Given the description of an element on the screen output the (x, y) to click on. 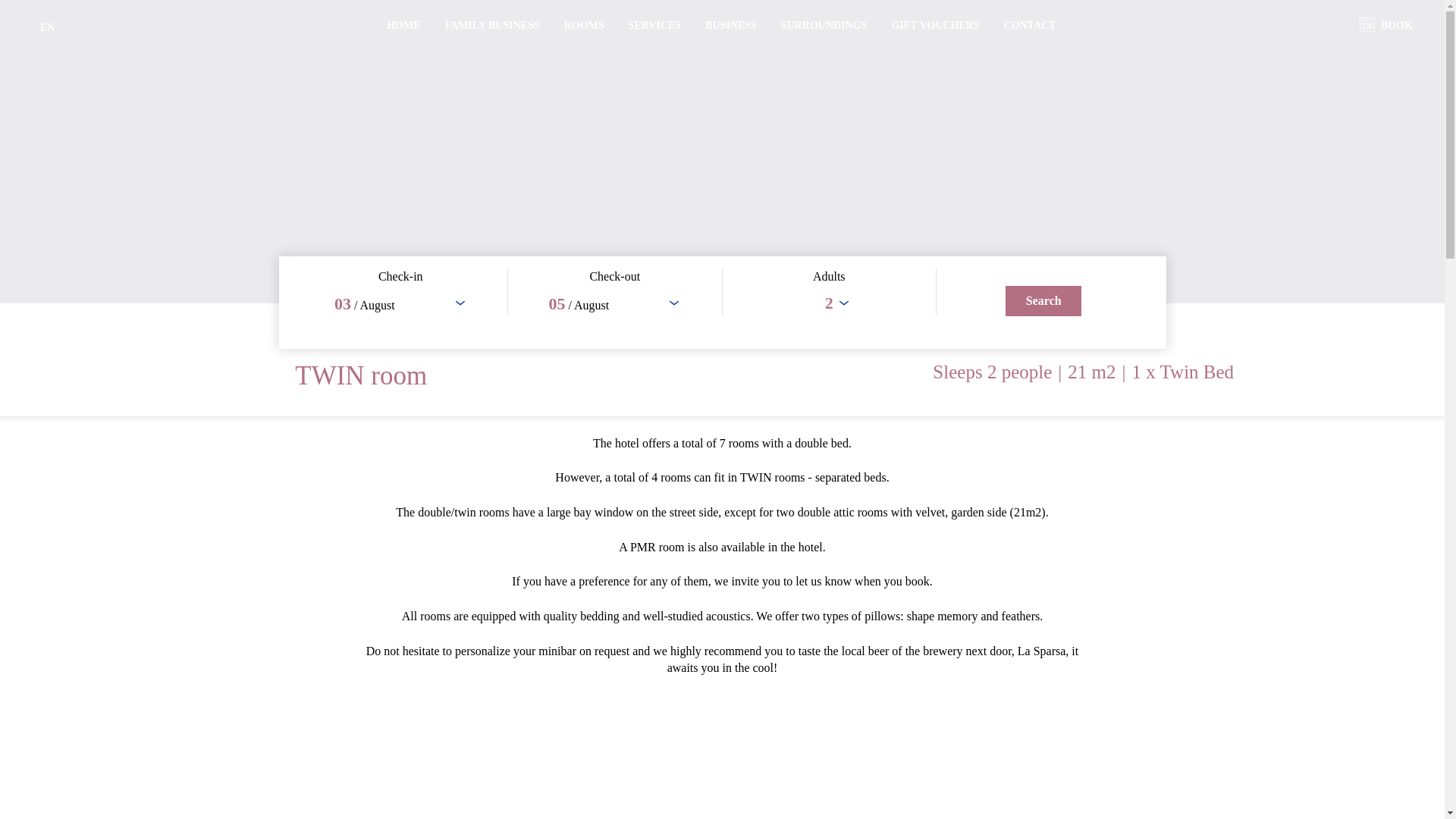
SURROUNDINGS (823, 25)
CONTACT (1030, 25)
BUSINESS (730, 25)
BOOK (1393, 25)
EN (46, 27)
Search (1043, 300)
HOME (403, 25)
ROOMS (584, 25)
GIFT VOUCHERS (934, 25)
SERVICES (654, 25)
FAMILY BUSINESS (492, 25)
